Given the description of an element on the screen output the (x, y) to click on. 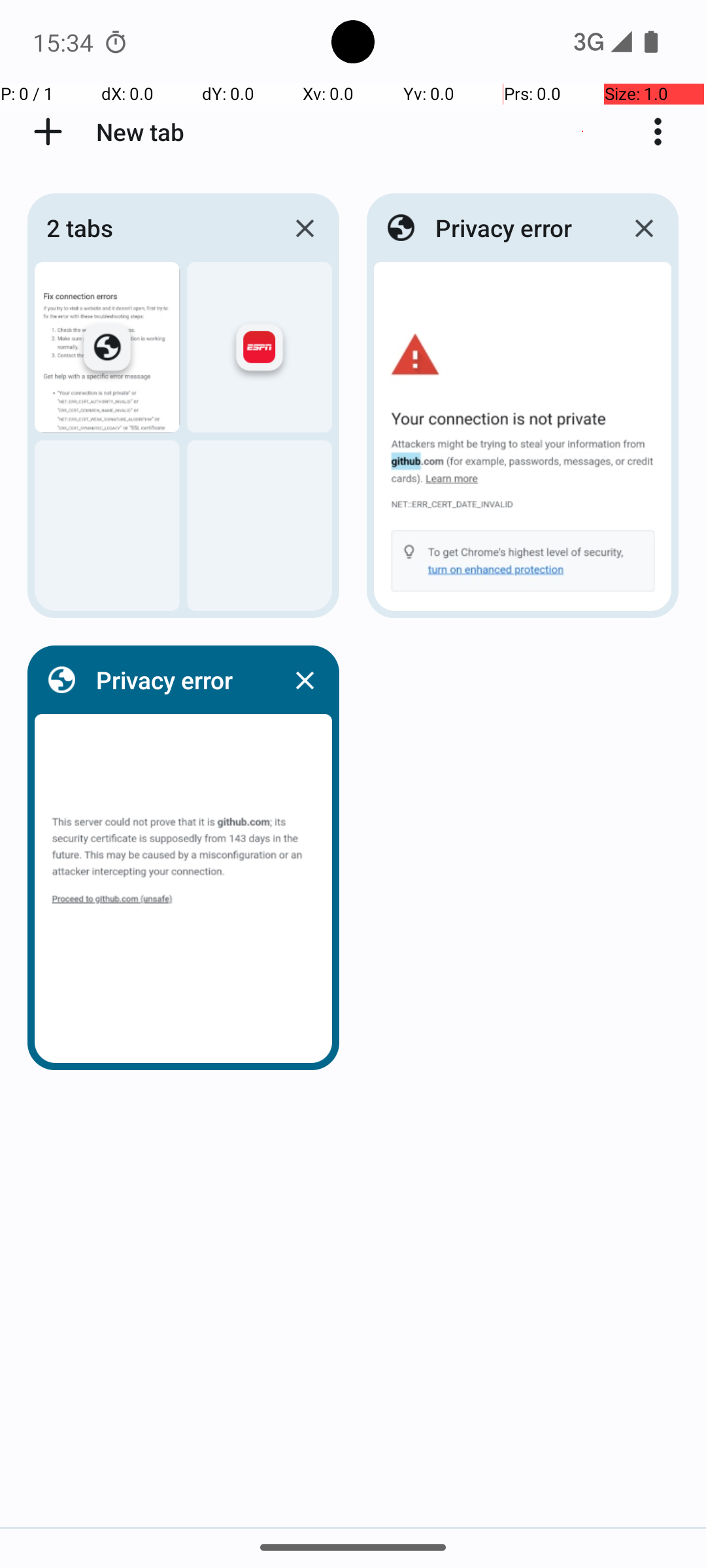
Expand tab group with 2 tabs. Element type: android.widget.FrameLayout (183, 405)
2 tabs Element type: android.widget.TextView (154, 227)
Close 2 tabs tab Element type: android.widget.ImageView (304, 227)
Close Privacy error tab Element type: android.widget.ImageView (643, 227)
